Given the description of an element on the screen output the (x, y) to click on. 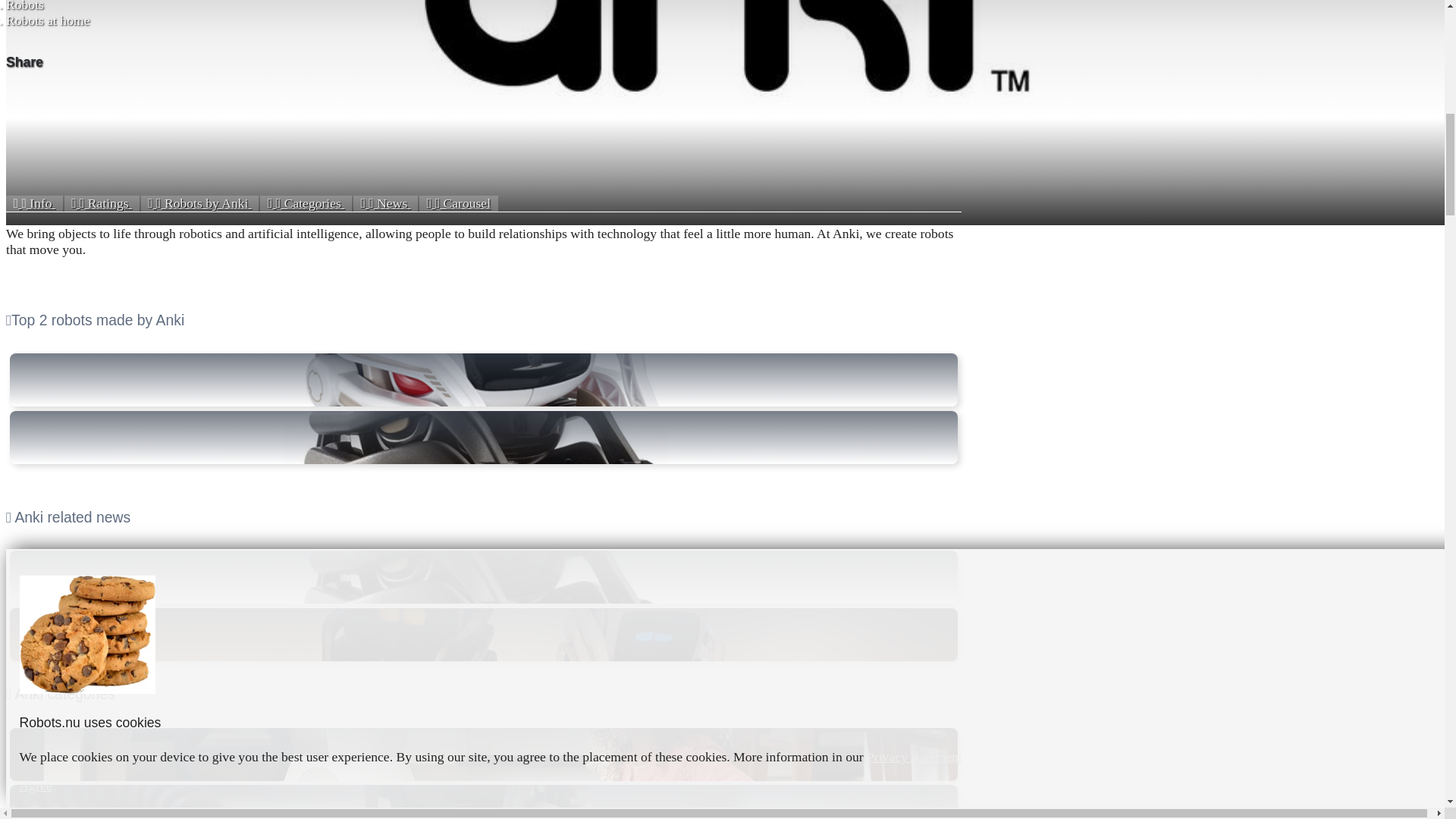
Robots at home (46, 20)
Robots (24, 6)
